Given the description of an element on the screen output the (x, y) to click on. 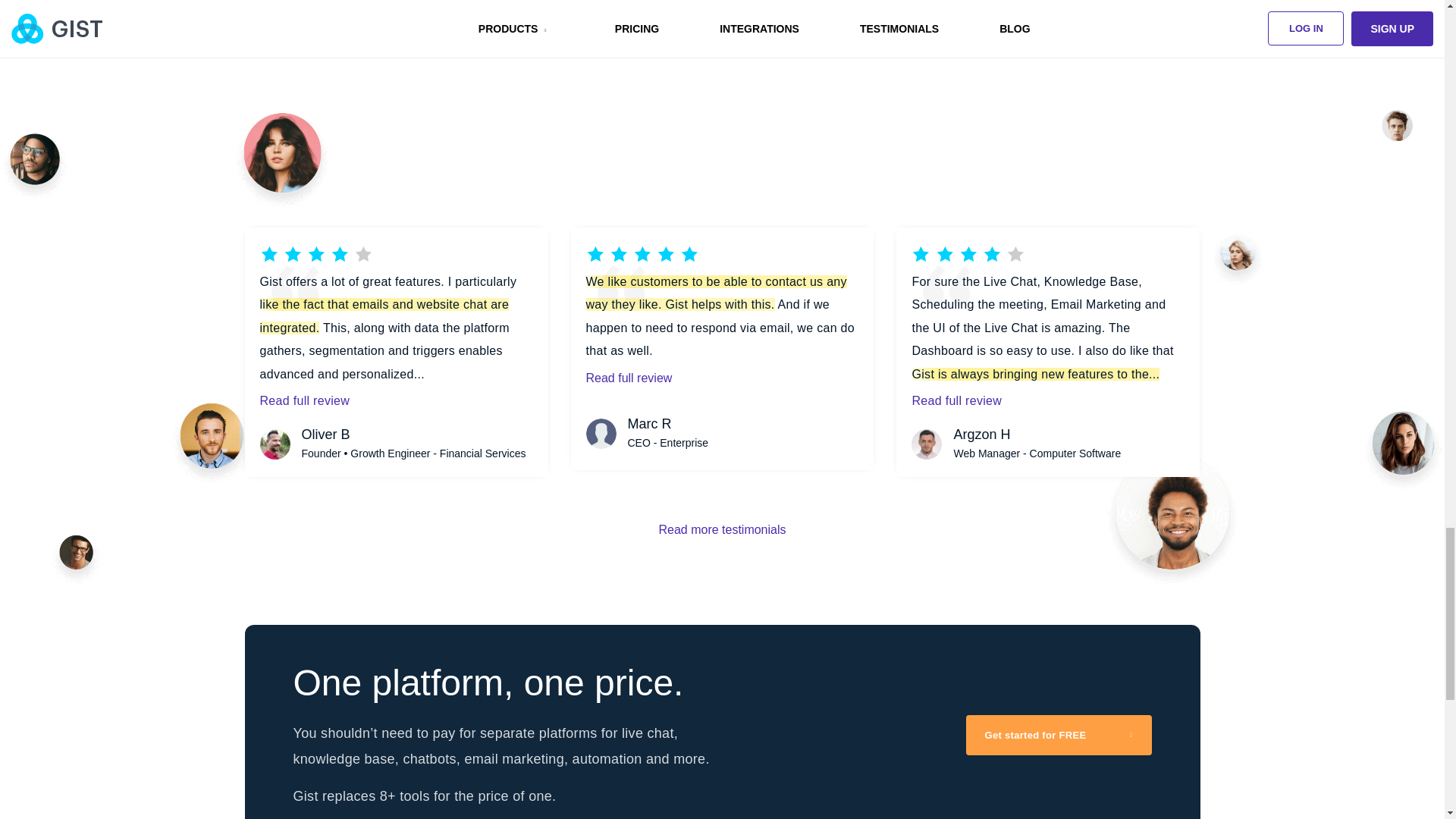
Read full review (1048, 398)
Get started for FREE (1058, 734)
Read full review (722, 375)
Read full review (396, 398)
